Given the description of an element on the screen output the (x, y) to click on. 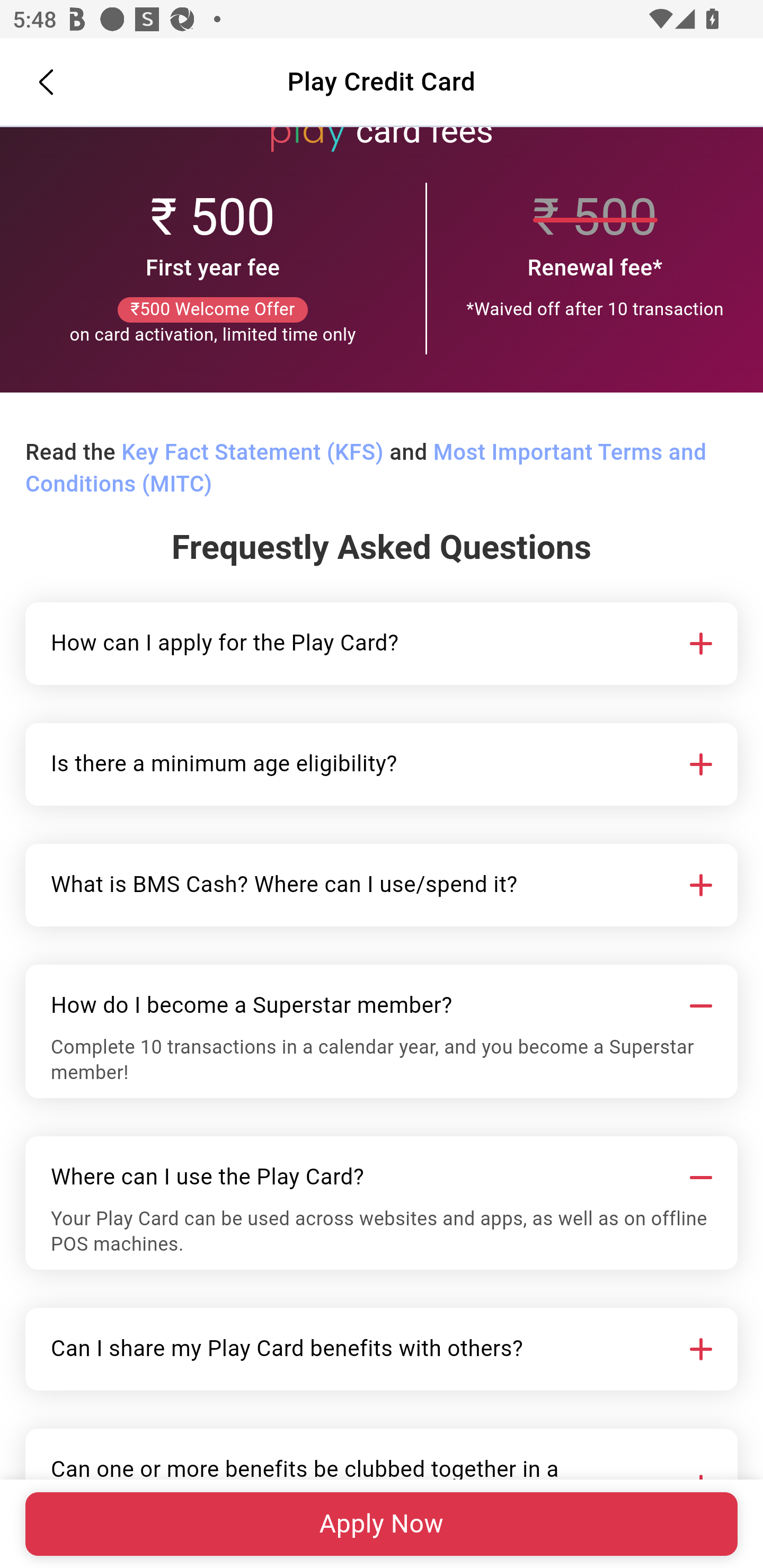
Most Important Terms and Conditions (MITC) (366, 469)
Key Fact Statement (KFS) (252, 453)
